Given the description of an element on the screen output the (x, y) to click on. 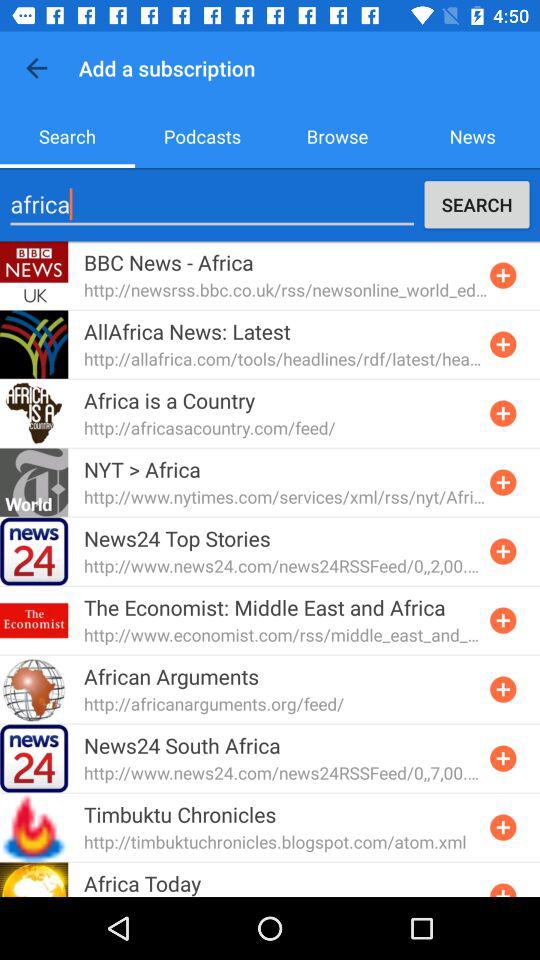
swipe until the african arguments (171, 676)
